Given the description of an element on the screen output the (x, y) to click on. 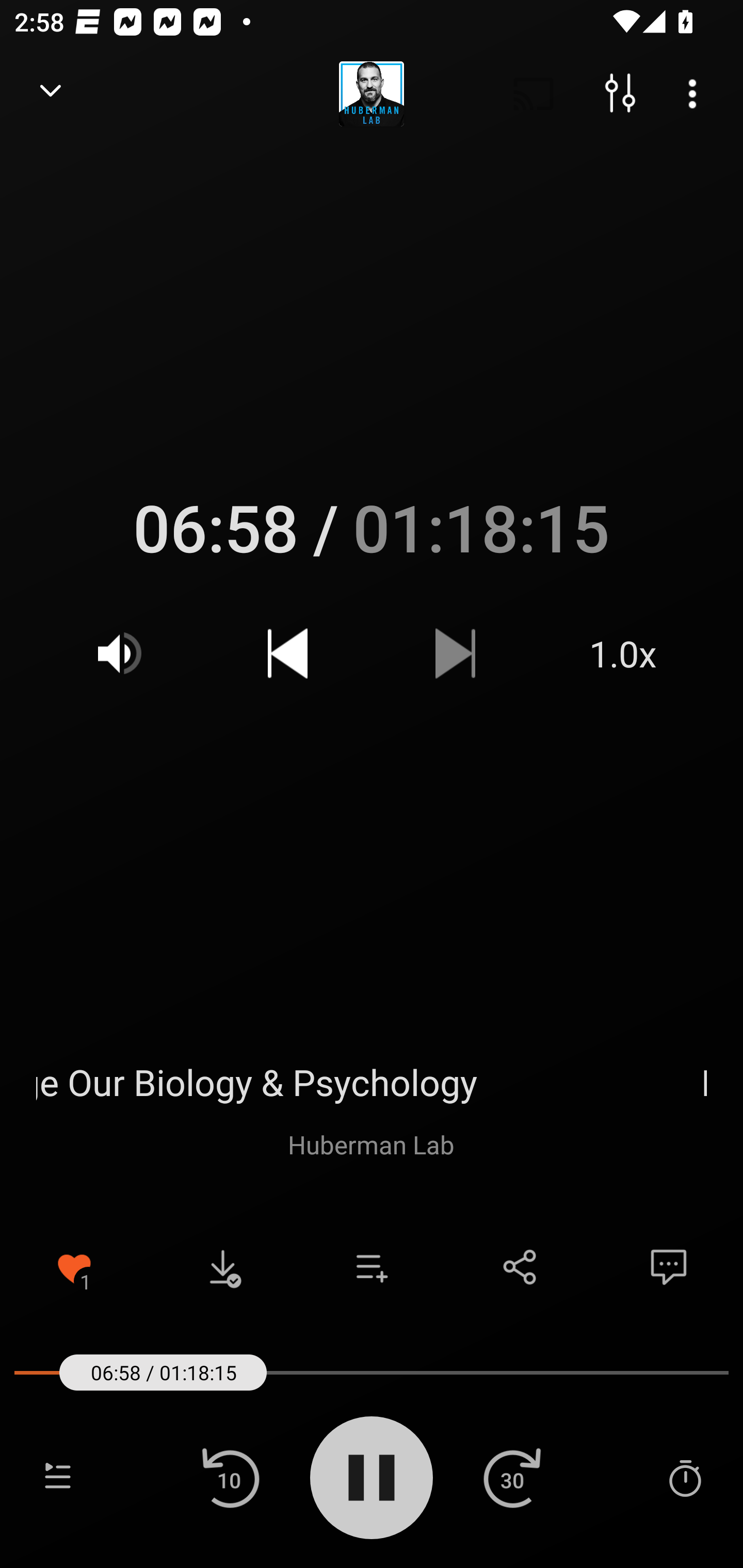
 Back (50, 94)
06:58 / 01:18:15 1.0x (371, 594)
1.0x (622, 652)
Huberman Lab (370, 1144)
Comments (668, 1266)
Remove from Favorites (73, 1266)
Add to playlist (371, 1266)
Share (519, 1266)
 Playlist (57, 1477)
Sleep Timer  (684, 1477)
